Given the description of an element on the screen output the (x, y) to click on. 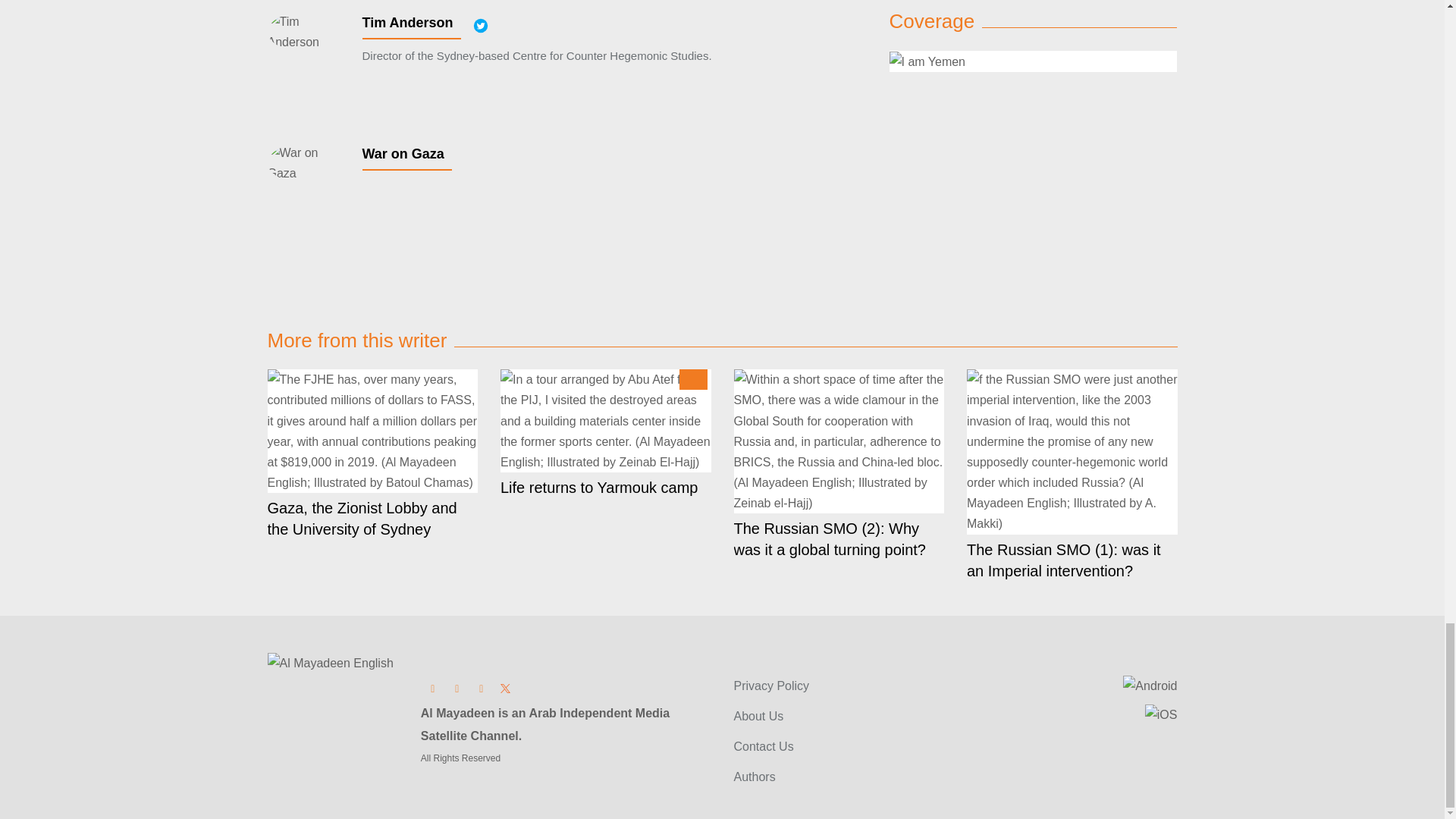
Life returns to Yarmouk camp (605, 420)
Gaza, the Zionist Lobby and the University of Sydney (371, 431)
